Given the description of an element on the screen output the (x, y) to click on. 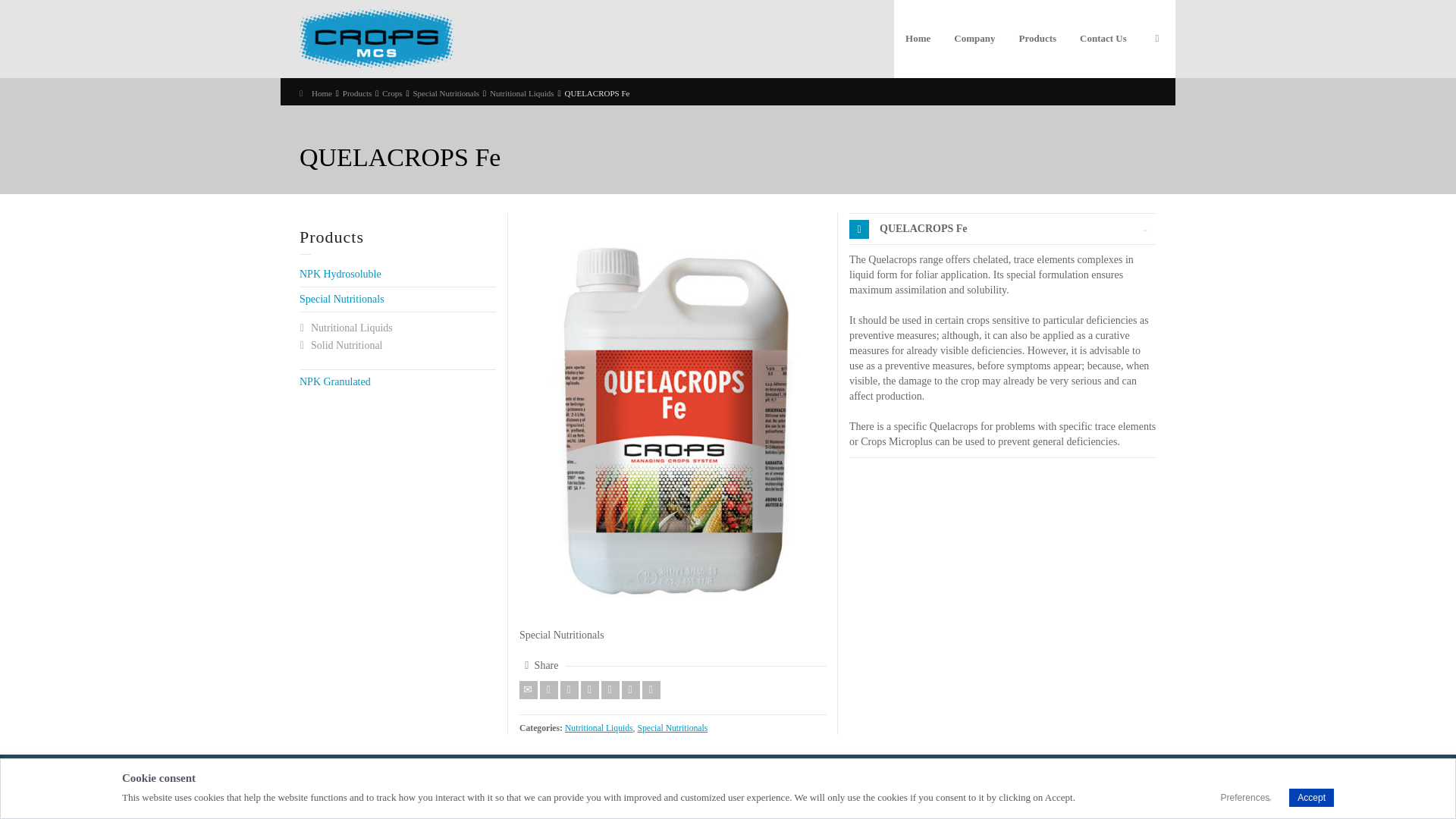
Tumblr (630, 689)
Crops (391, 92)
Crops (376, 37)
Products (357, 92)
Nutritional Liquids (521, 92)
Solid Nutritional (346, 345)
Special Nutritionals (445, 92)
Aviso legal (456, 781)
Special Nutritionals (341, 298)
Email (528, 689)
